Given the description of an element on the screen output the (x, y) to click on. 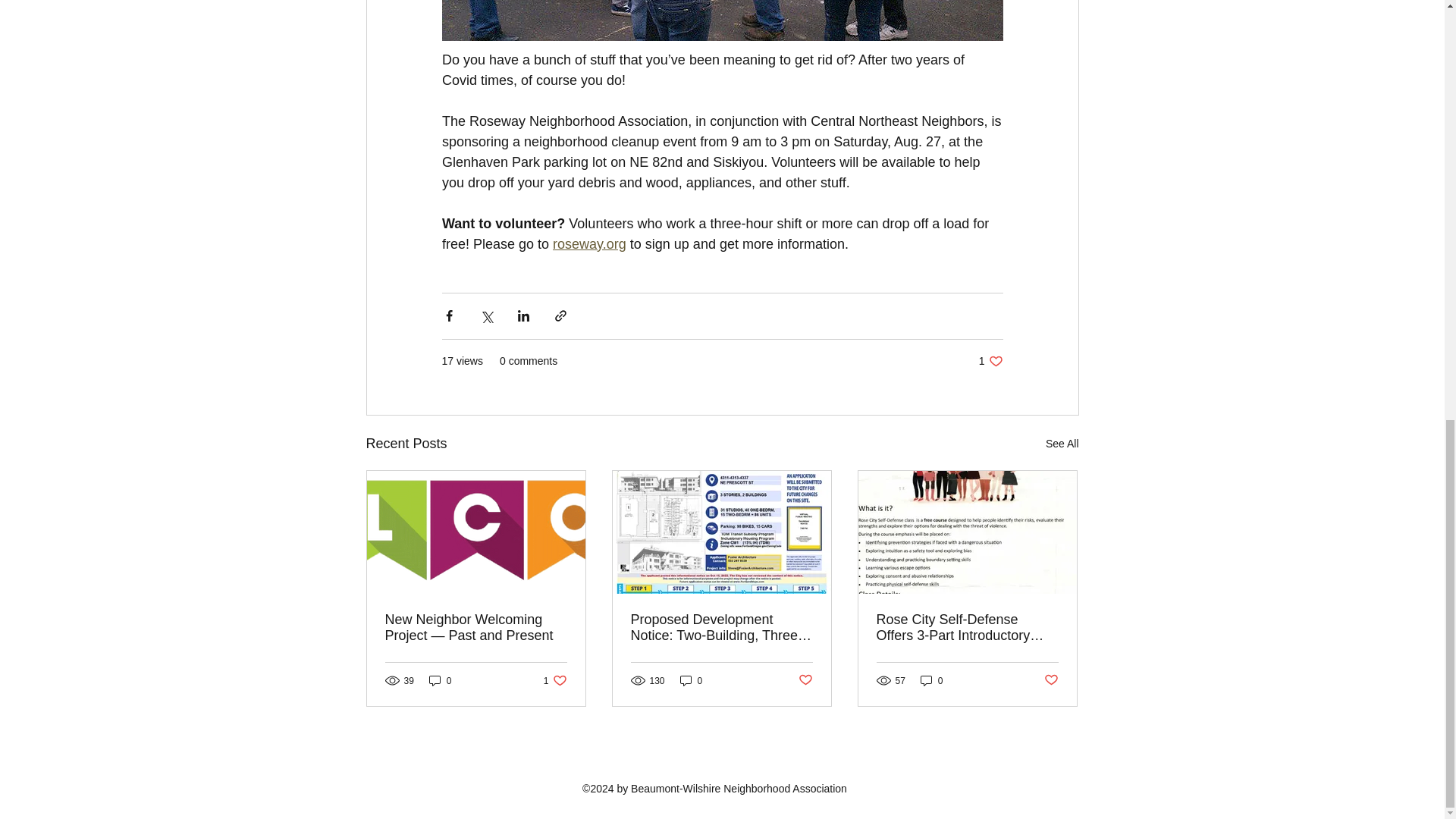
0 (691, 680)
Post not marked as liked (990, 360)
0 (1050, 680)
roseway.org (931, 680)
0 (589, 243)
Post not marked as liked (555, 680)
See All (440, 680)
